Given the description of an element on the screen output the (x, y) to click on. 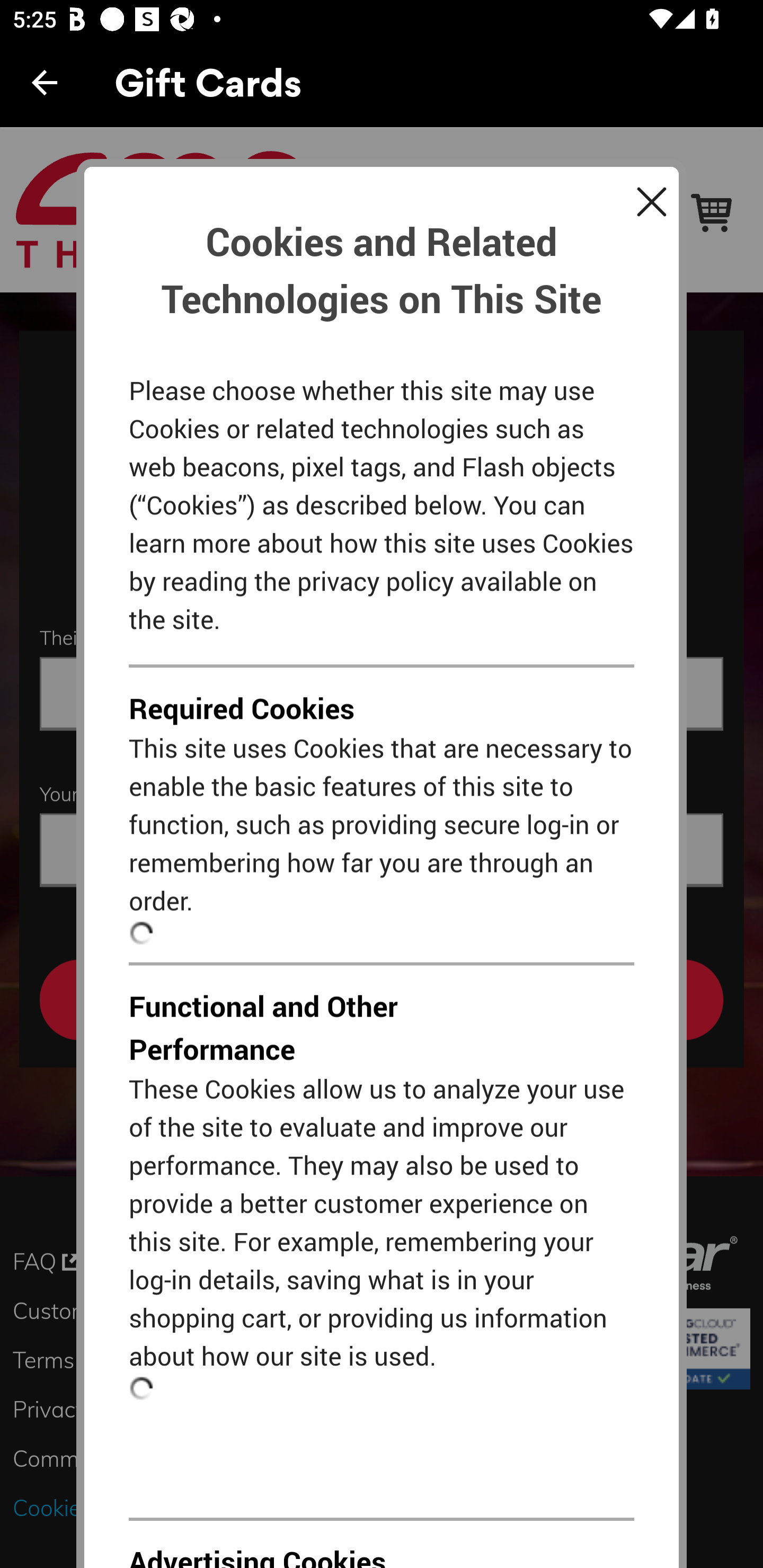
Back (44, 82)
close (651, 205)
